Given the description of an element on the screen output the (x, y) to click on. 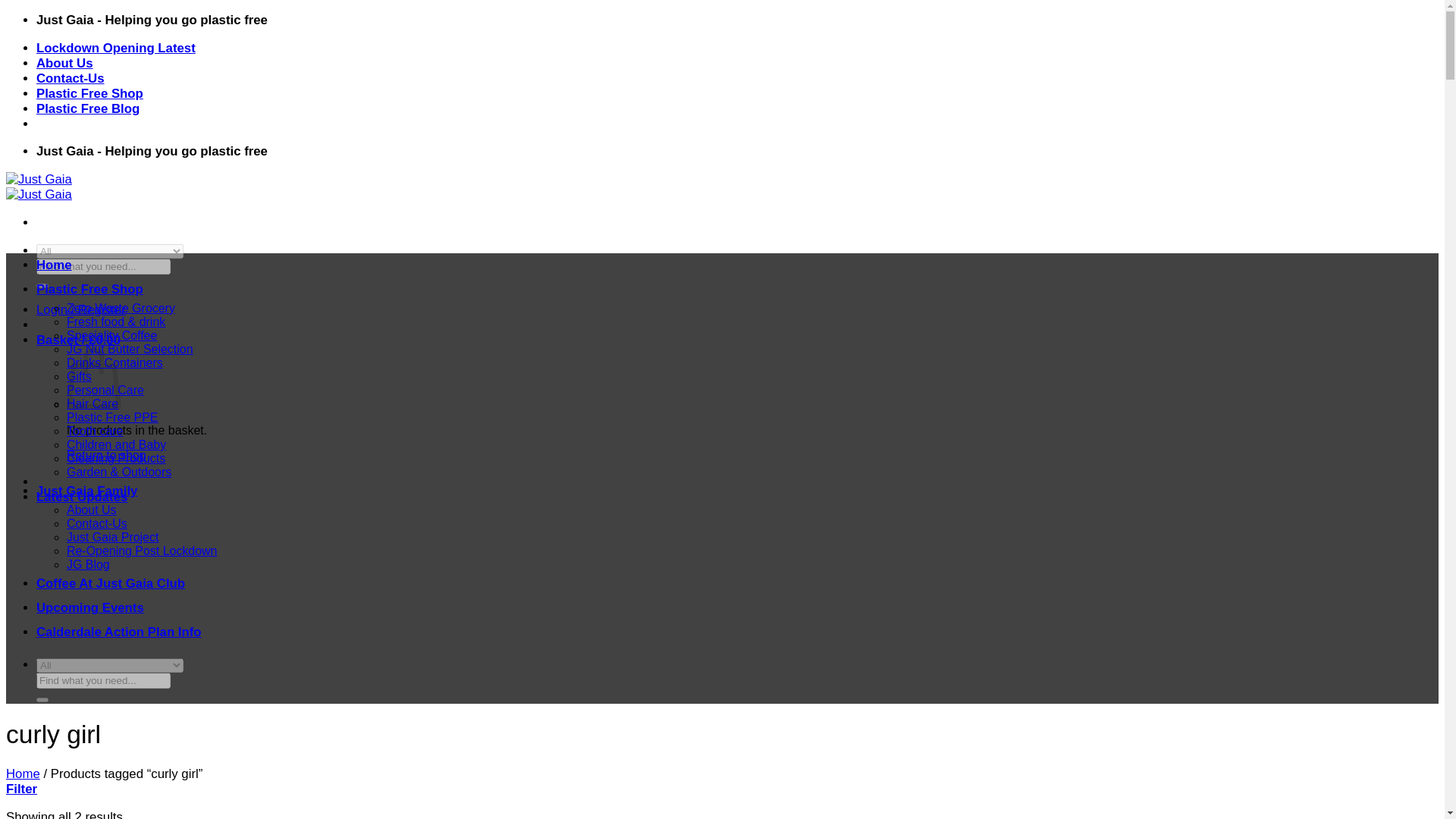
Hair Care (91, 403)
Basket (78, 339)
JG Nut Butter Selection (129, 349)
Tooth care (94, 431)
About Us (91, 509)
Return to shop (106, 454)
Search (42, 285)
Contact-Us (70, 78)
Lockdown Opening Latest (115, 47)
Plastic Free Shop (89, 288)
Zero Waste Grocery (120, 308)
Children and Baby (115, 444)
Personal Care (105, 390)
Gifts (78, 376)
